Given the description of an element on the screen output the (x, y) to click on. 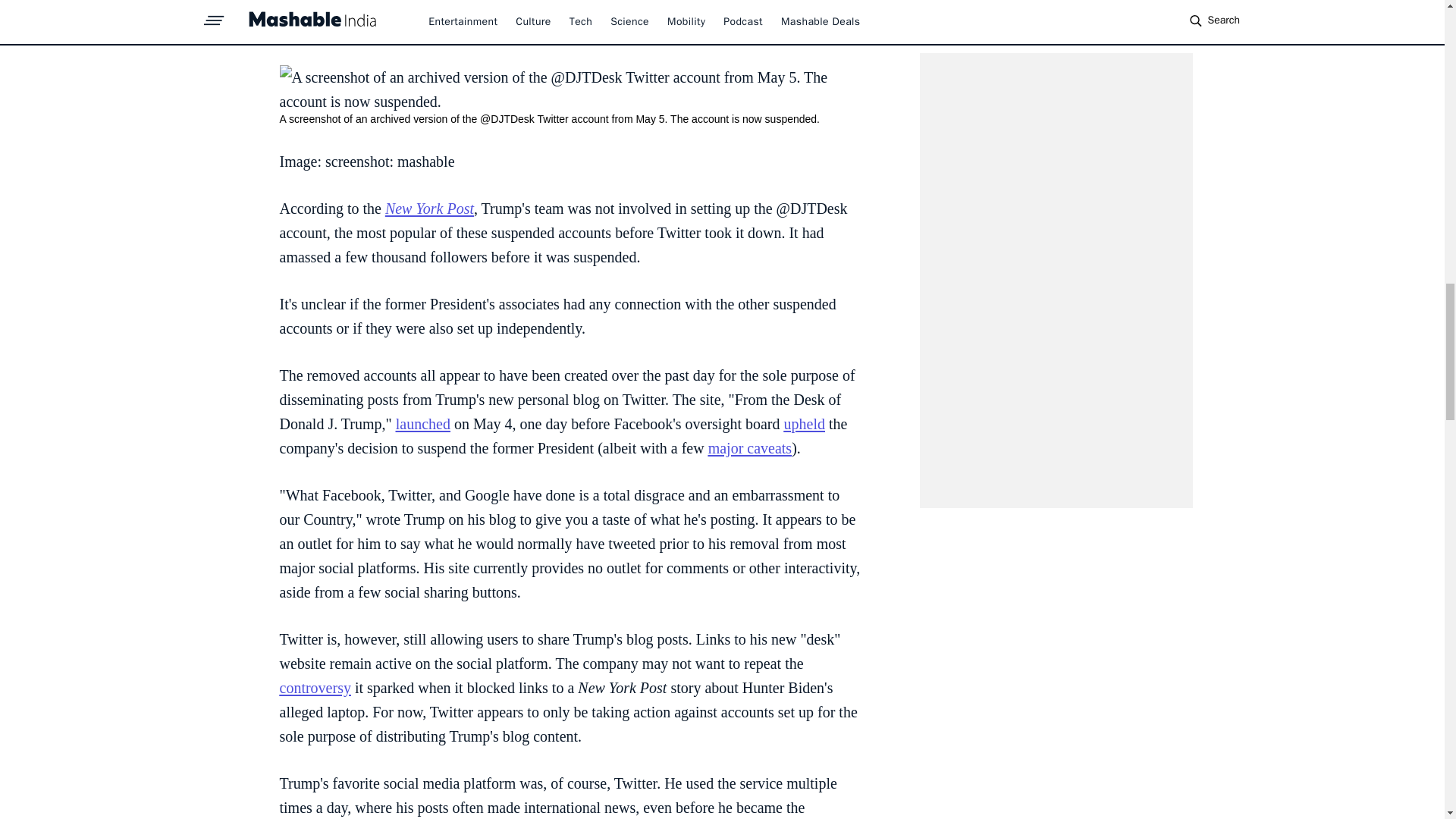
New York Post (429, 208)
major caveats (749, 447)
upheld (804, 423)
controversy (314, 687)
launched (422, 423)
